Given the description of an element on the screen output the (x, y) to click on. 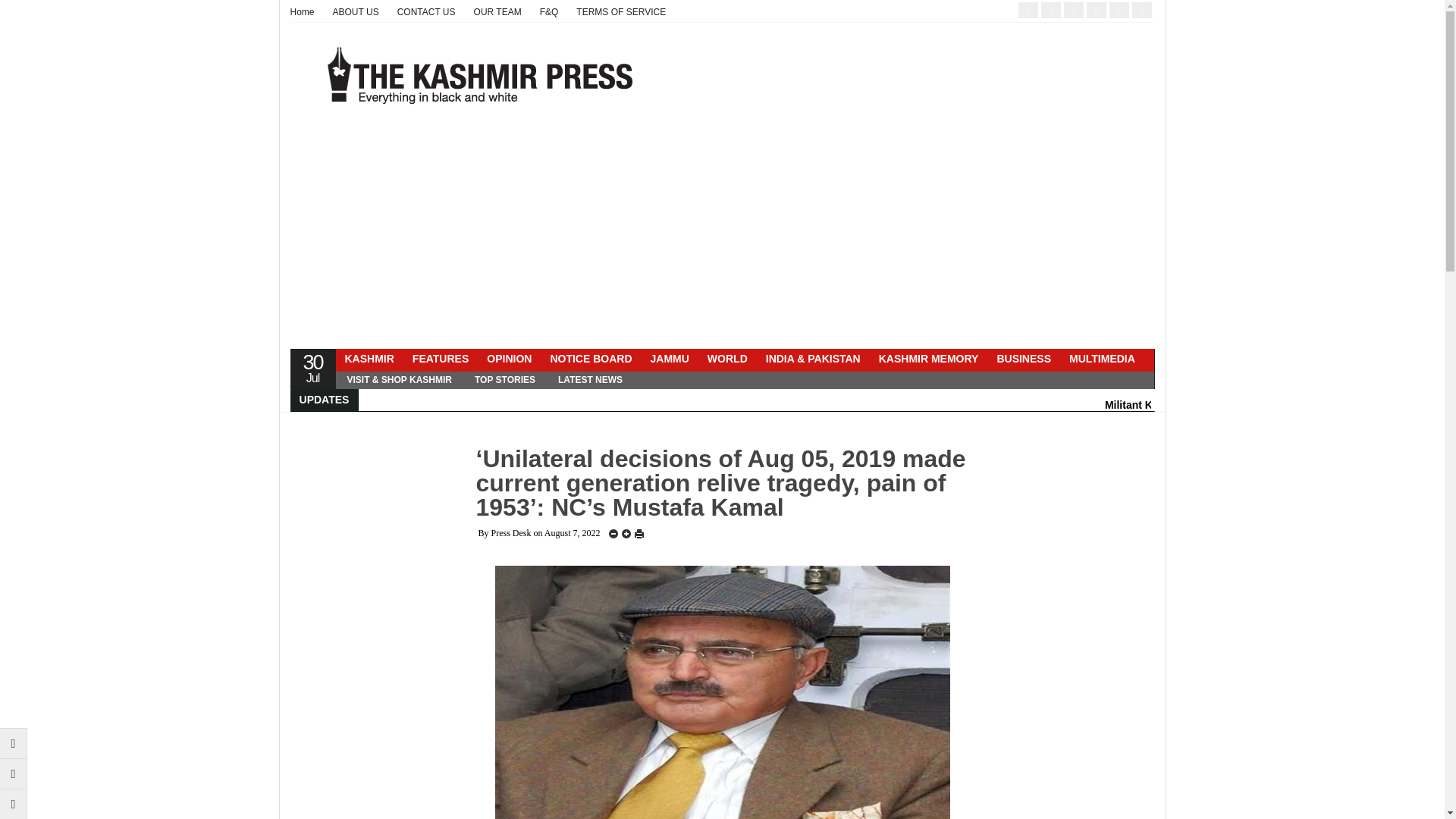
WORLD (727, 358)
TERMS OF SERVICE (621, 12)
The Kashmir Press (478, 75)
OPINION (508, 358)
Everything in Black and White (306, 12)
FEATURES (440, 358)
KASHMIR (368, 358)
KASHMIR MEMORY (928, 358)
NOTICE BOARD (590, 358)
MULTIMEDIA (1101, 358)
JAMMU (670, 358)
Militant Killed During firefight in Pulwama (1209, 404)
CONTACT US (426, 12)
BUSINESS (1023, 358)
